Given the description of an element on the screen output the (x, y) to click on. 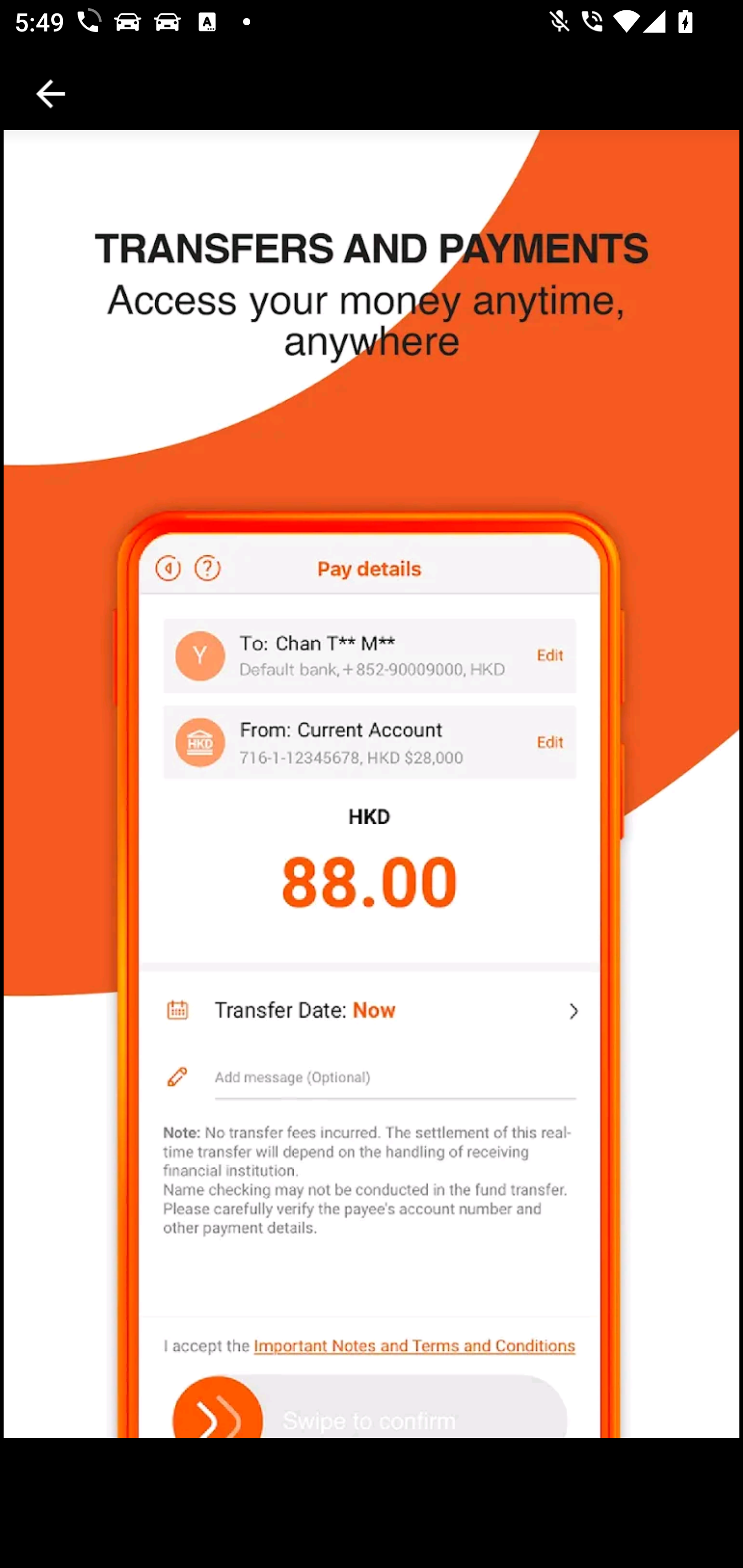
Back (50, 93)
